Given the description of an element on the screen output the (x, y) to click on. 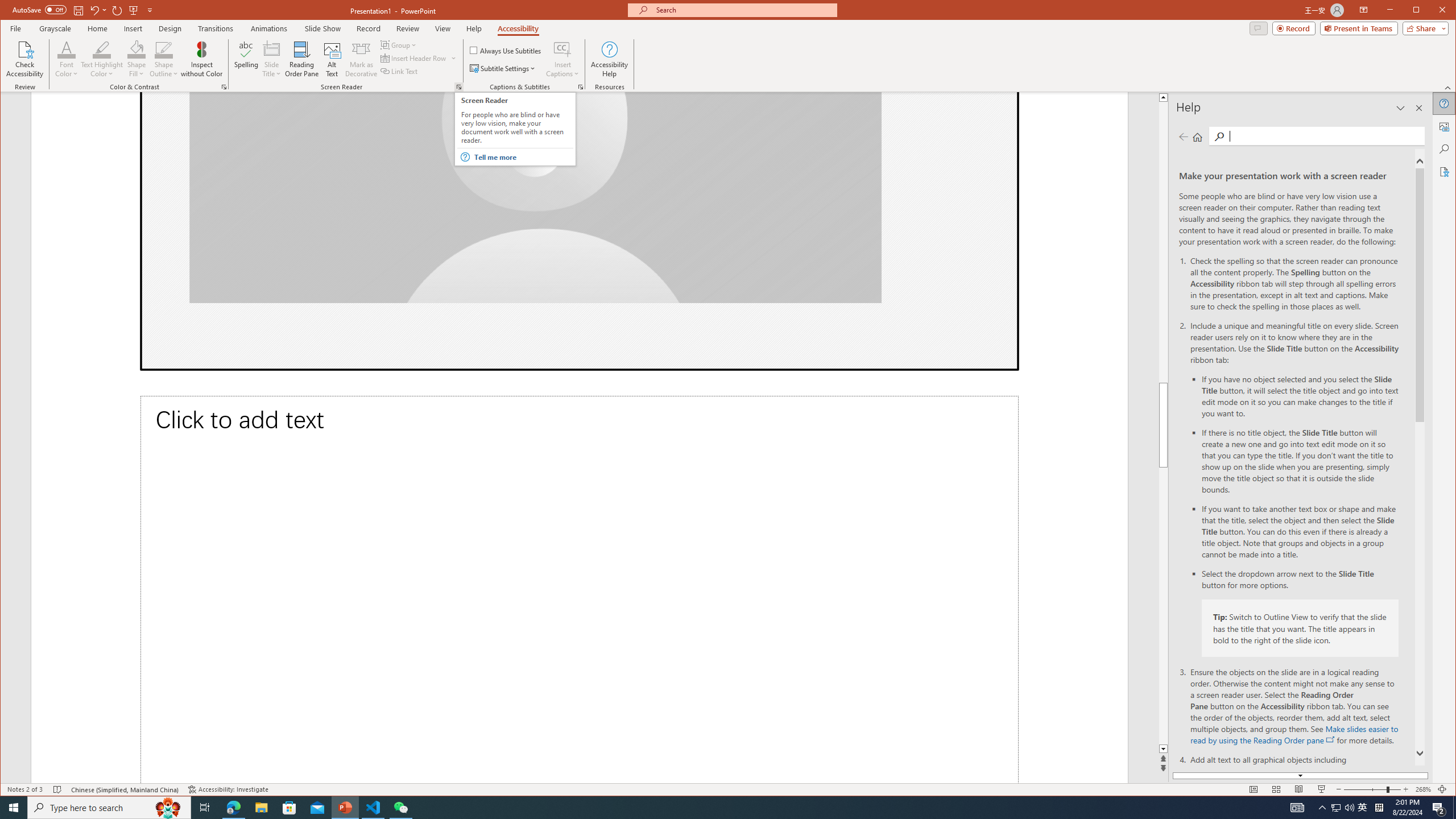
Insert Captions (562, 59)
Check Accessibility (25, 59)
Shape Outline Blue, Accent 1 (163, 48)
Insert Header Row (413, 57)
Shape Fill Orange, Accent 2 (136, 48)
Microsoft Store (289, 807)
Link Text (399, 70)
